Given the description of an element on the screen output the (x, y) to click on. 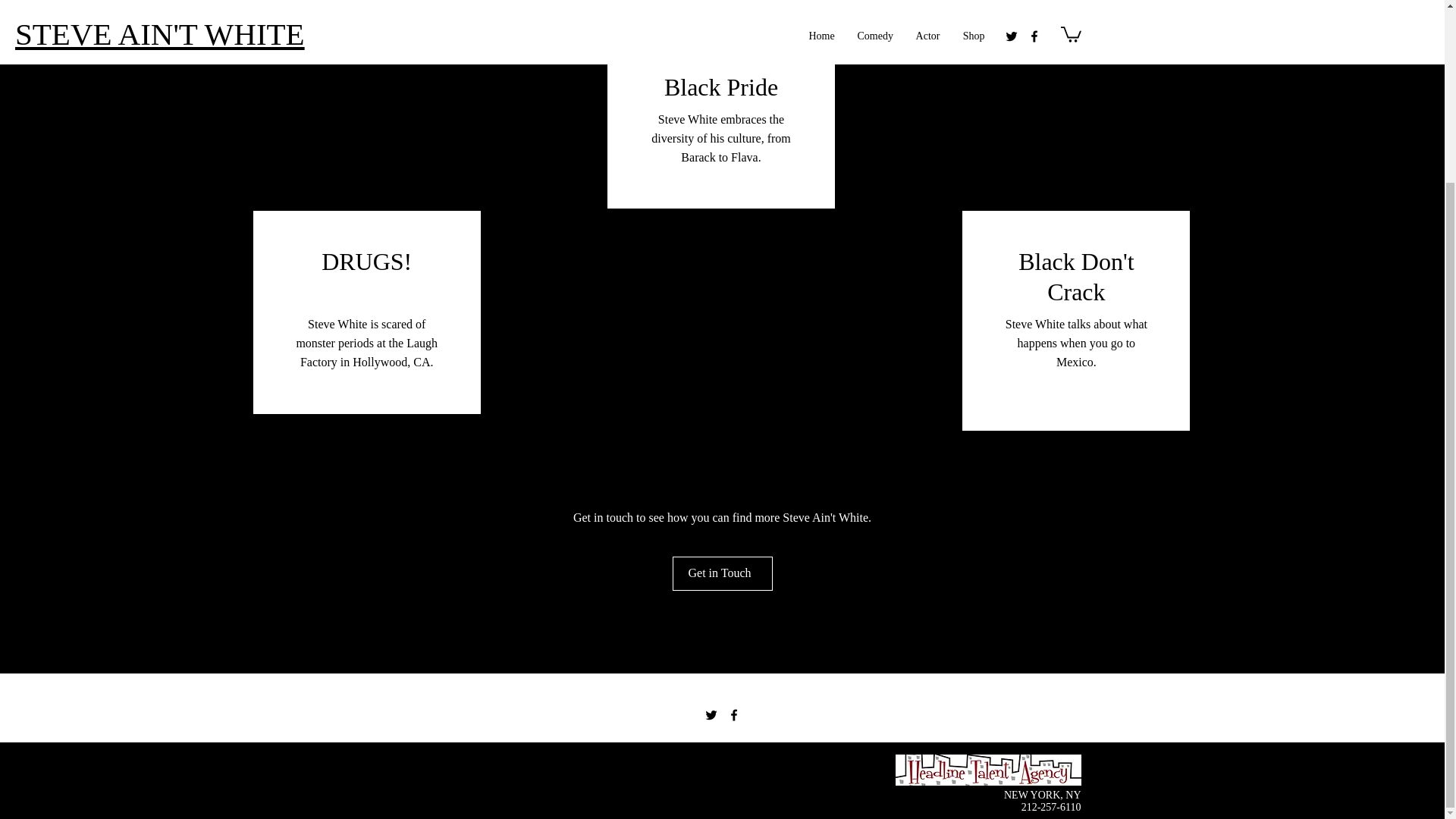
External YouTube (720, 318)
Get in Touch (721, 573)
External YouTube (1075, 123)
External YouTube (366, 123)
